Given the description of an element on the screen output the (x, y) to click on. 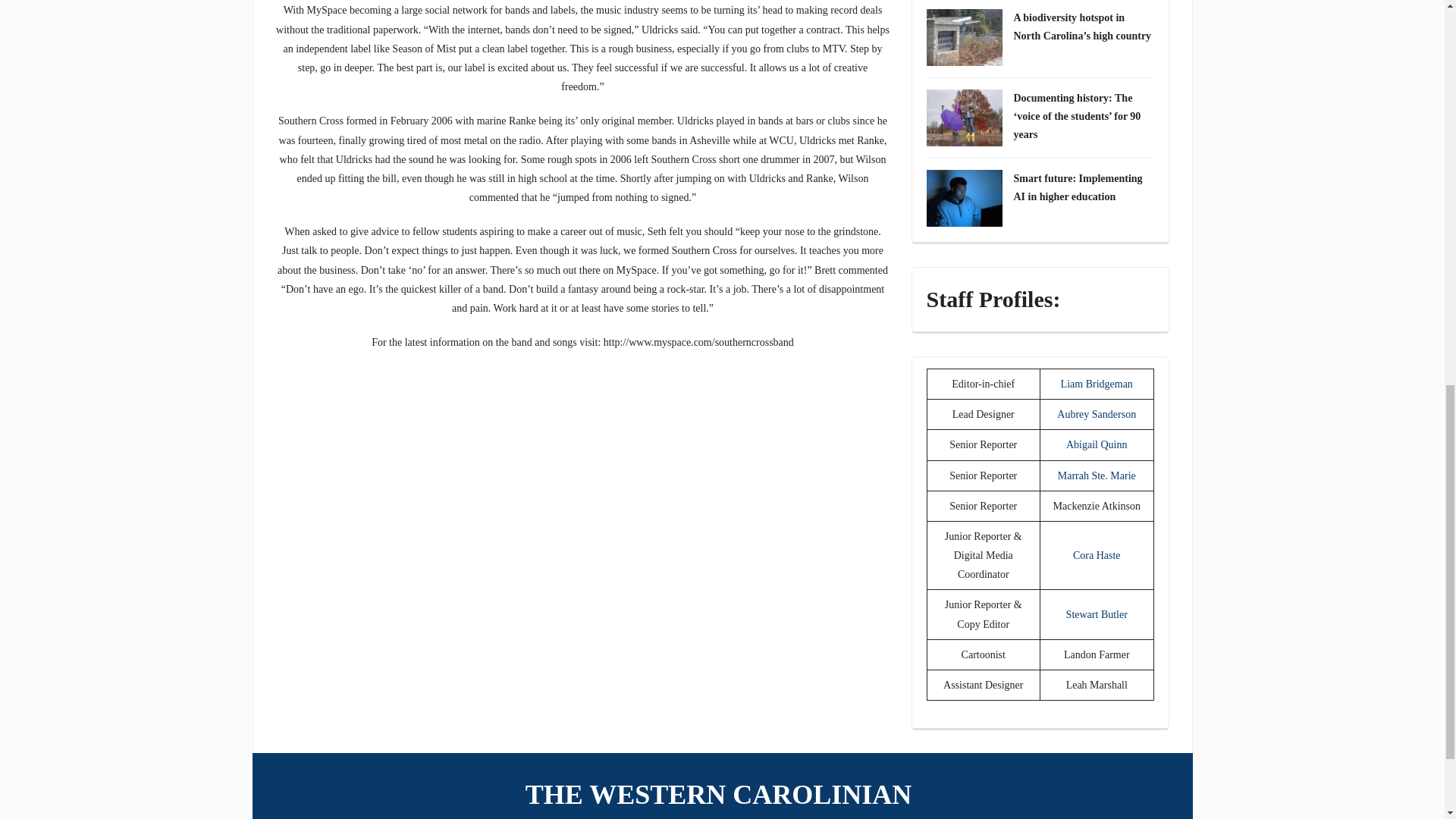
Western Carolina University's source for student-led news. (721, 794)
